Given the description of an element on the screen output the (x, y) to click on. 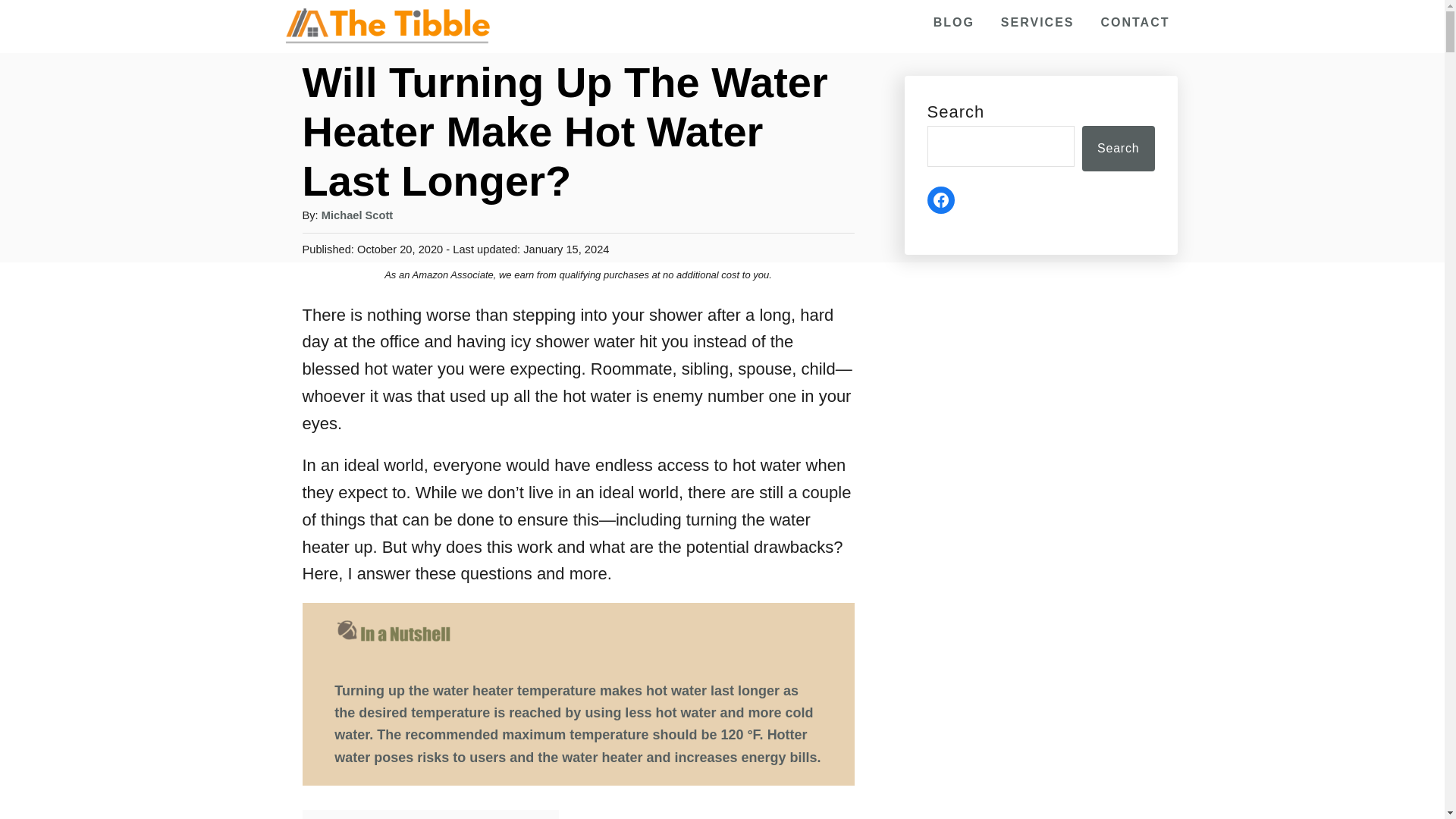
CONTACT (1134, 22)
SERVICES (1036, 22)
The Tibble (387, 26)
Michael Scott (357, 215)
BLOG (953, 22)
